Given the description of an element on the screen output the (x, y) to click on. 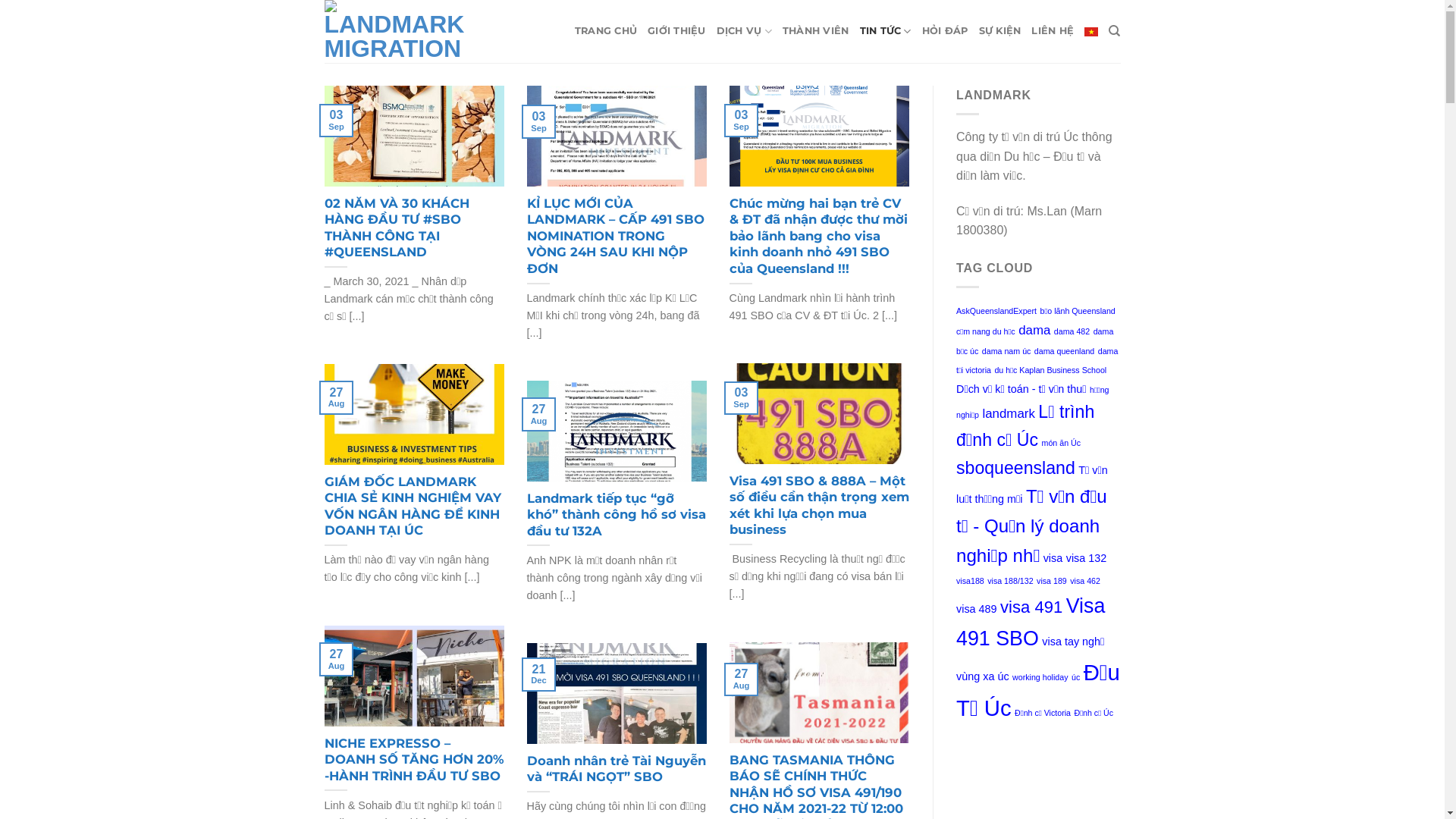
visa 489 Element type: text (976, 608)
AskQueenslandExpert Element type: text (996, 310)
visa Element type: text (1053, 558)
visa 462 Element type: text (1085, 580)
visa 188/132 Element type: text (1009, 580)
visa 491 Element type: text (1031, 606)
visa 132 Element type: text (1086, 558)
visa188 Element type: text (970, 580)
dama Element type: text (1034, 330)
Visa 491 SBO Element type: text (1030, 621)
Landmark Migration & Investment Element type: hover (400, 31)
visa 189 Element type: text (1051, 580)
Skip to content Element type: text (0, 0)
working holiday Element type: text (1039, 676)
landmark Element type: text (1008, 413)
sboqueensland Element type: text (1015, 467)
dama queenland Element type: text (1064, 350)
dama 482 Element type: text (1071, 330)
